Given the description of an element on the screen output the (x, y) to click on. 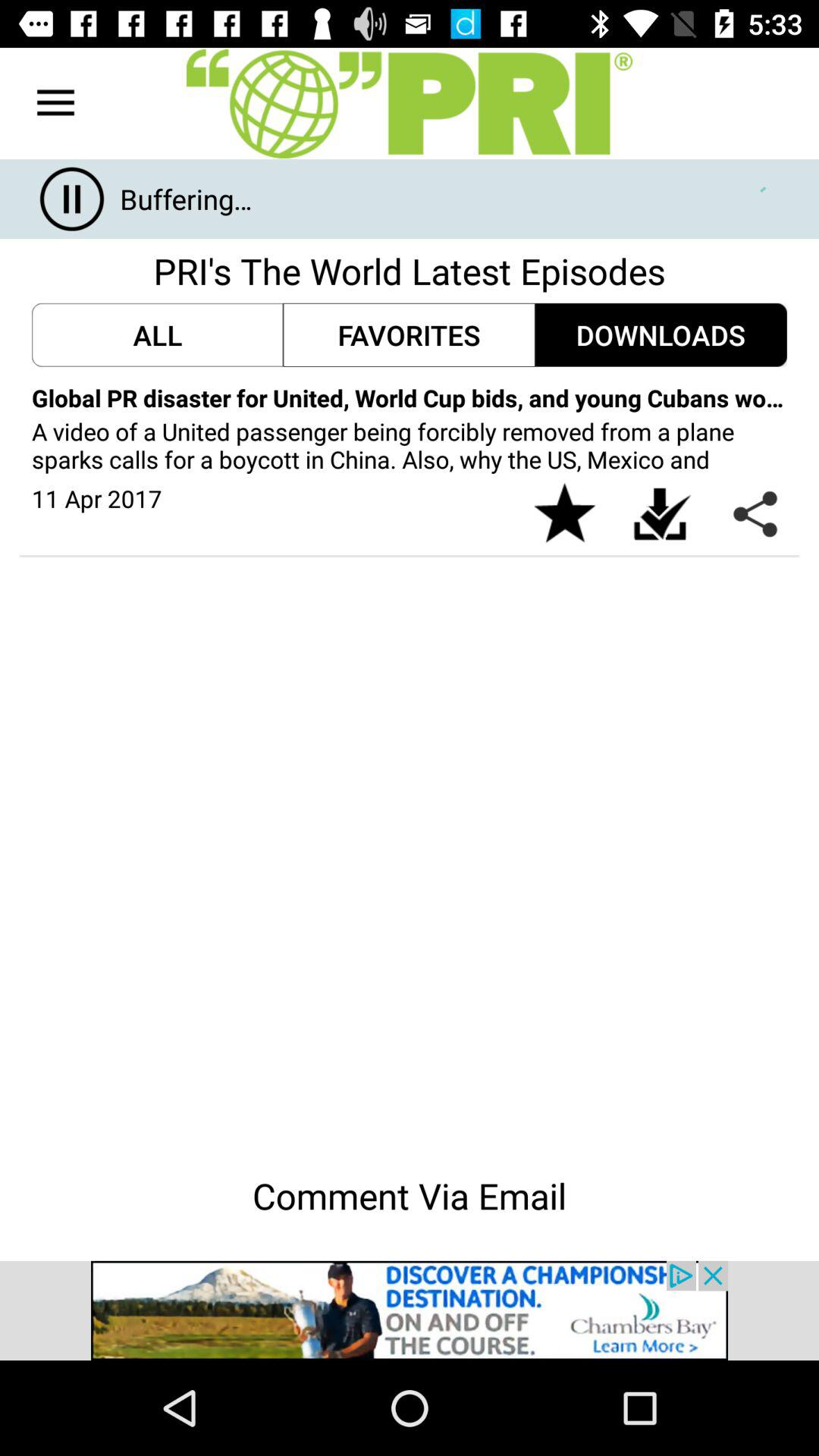
advertisement (409, 1310)
